Given the description of an element on the screen output the (x, y) to click on. 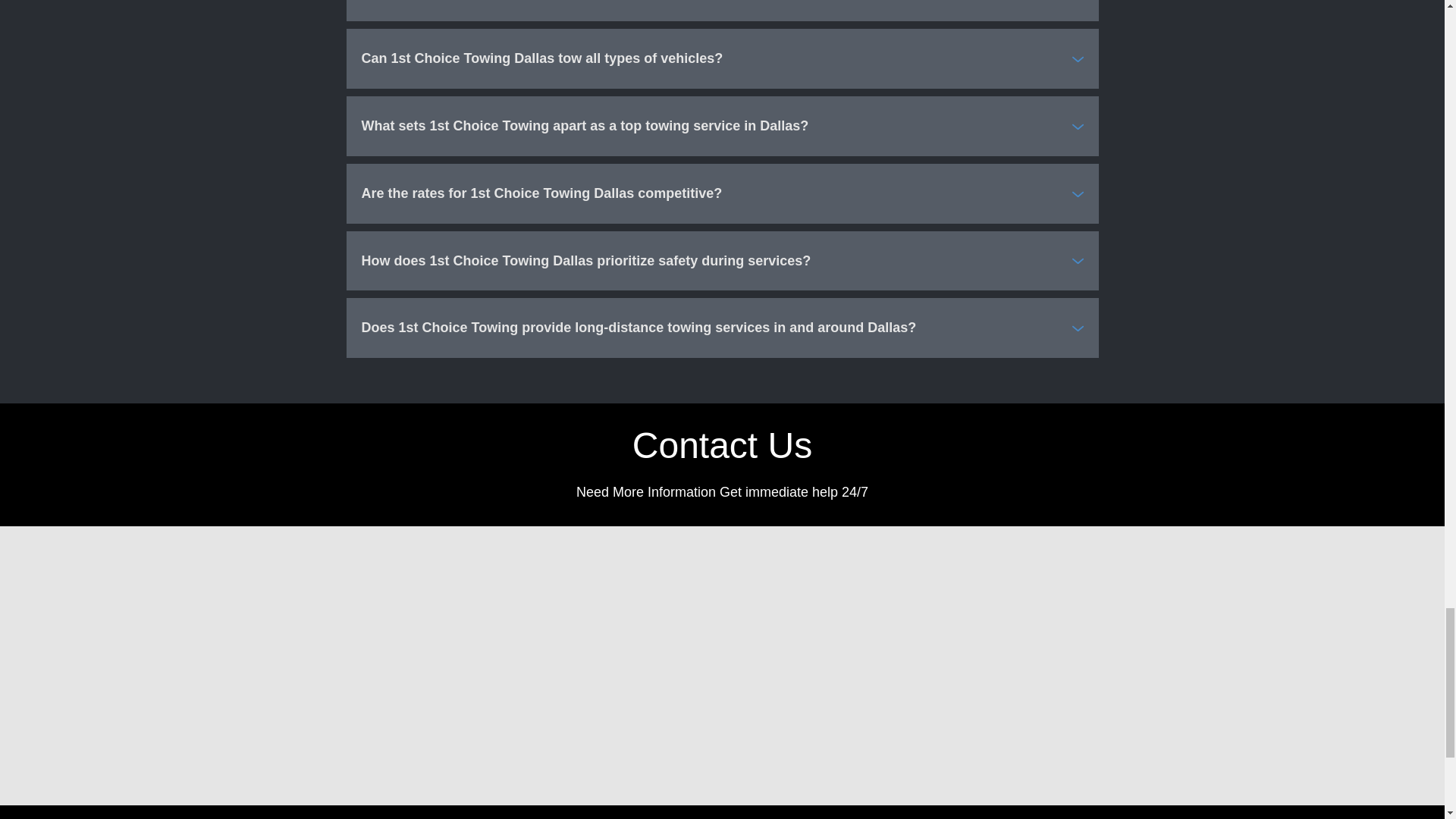
Are the rates for 1st Choice Towing Dallas competitive? (721, 193)
Can 1st Choice Towing Dallas tow all types of vehicles? (721, 58)
